Given the description of an element on the screen output the (x, y) to click on. 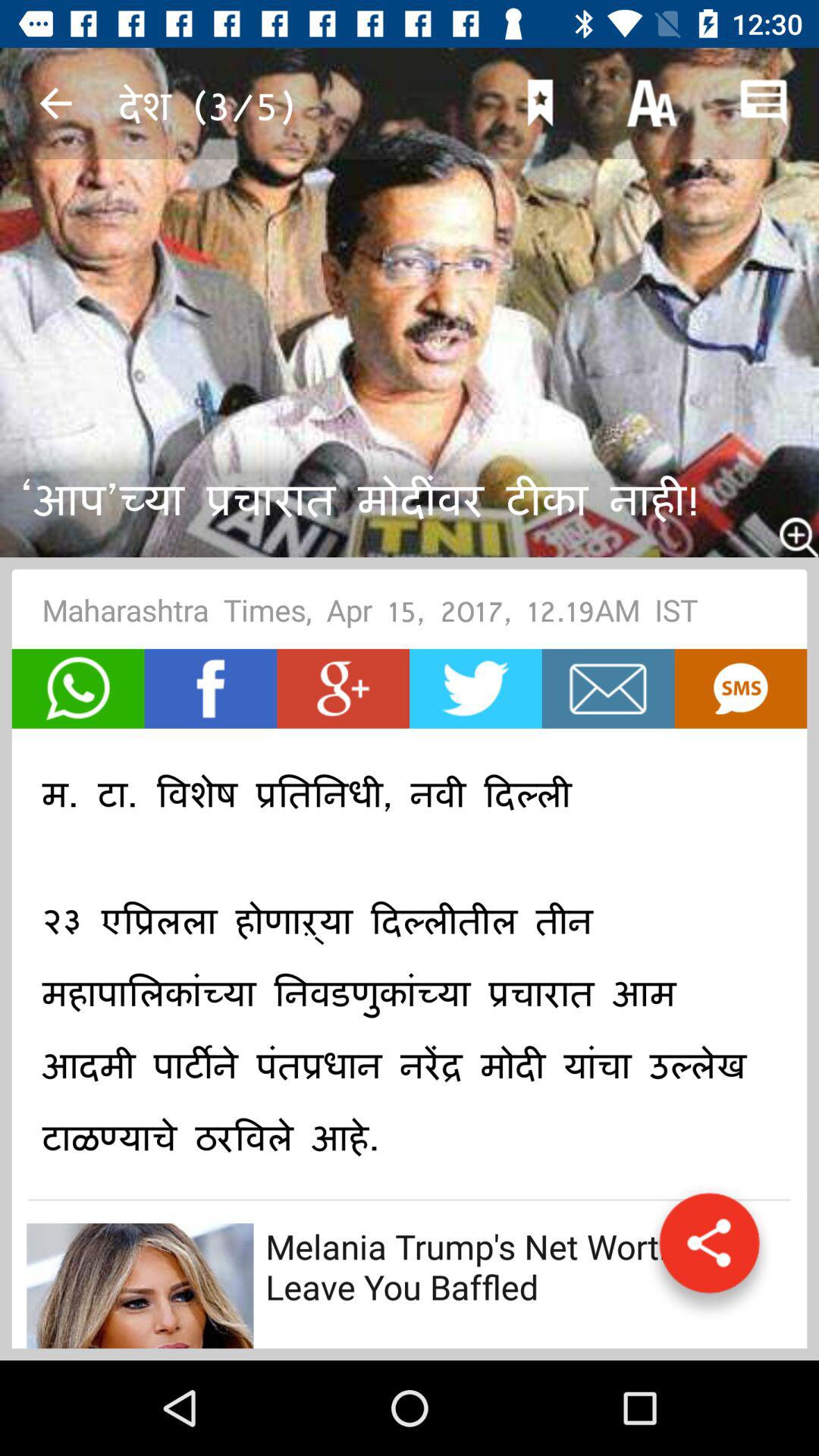
e-mail (608, 688)
